Given the description of an element on the screen output the (x, y) to click on. 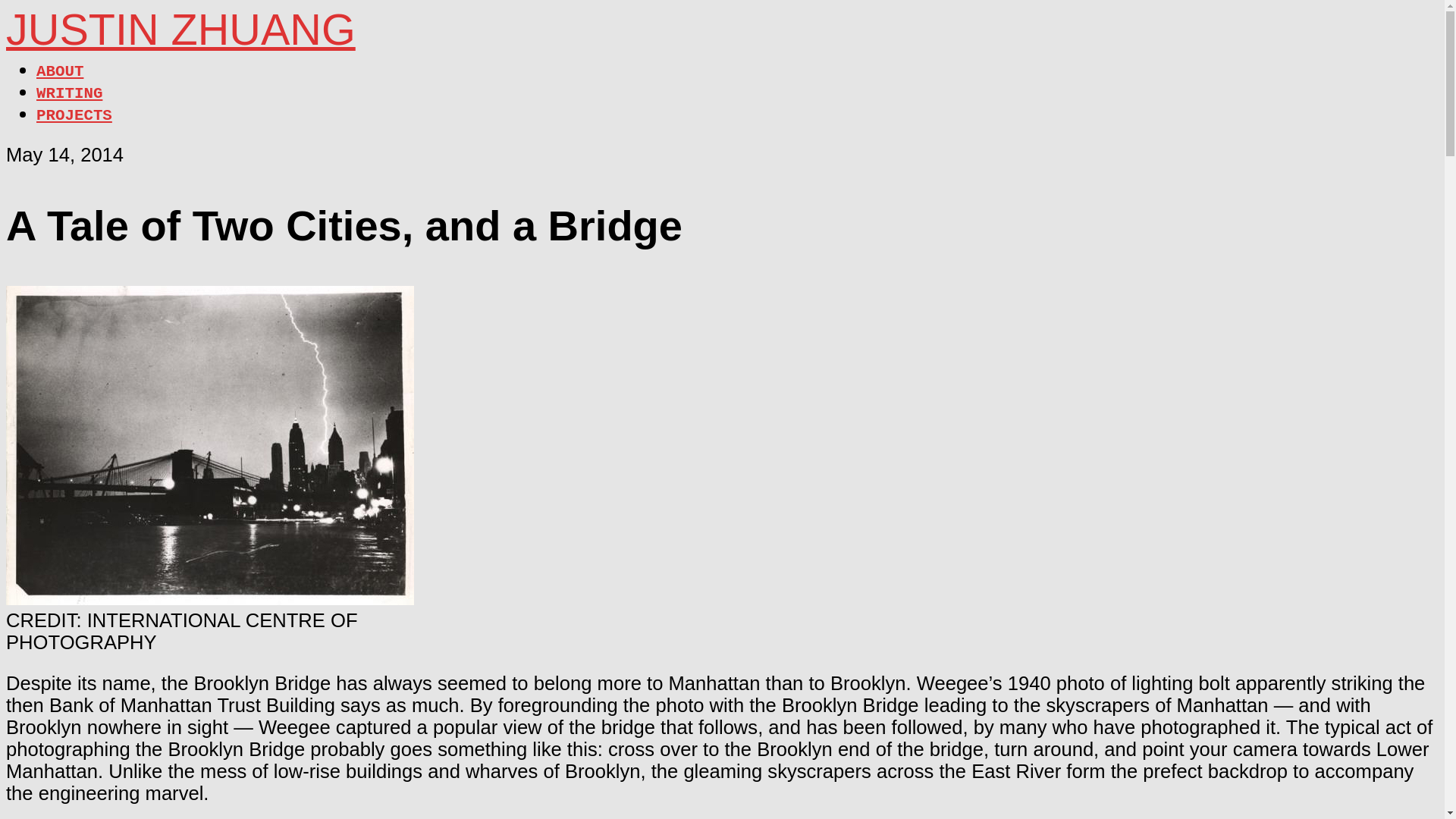
JUSTIN ZHUANG (180, 29)
PROJECTS (74, 115)
WRITING (68, 93)
ABOUT (59, 71)
